Given the description of an element on the screen output the (x, y) to click on. 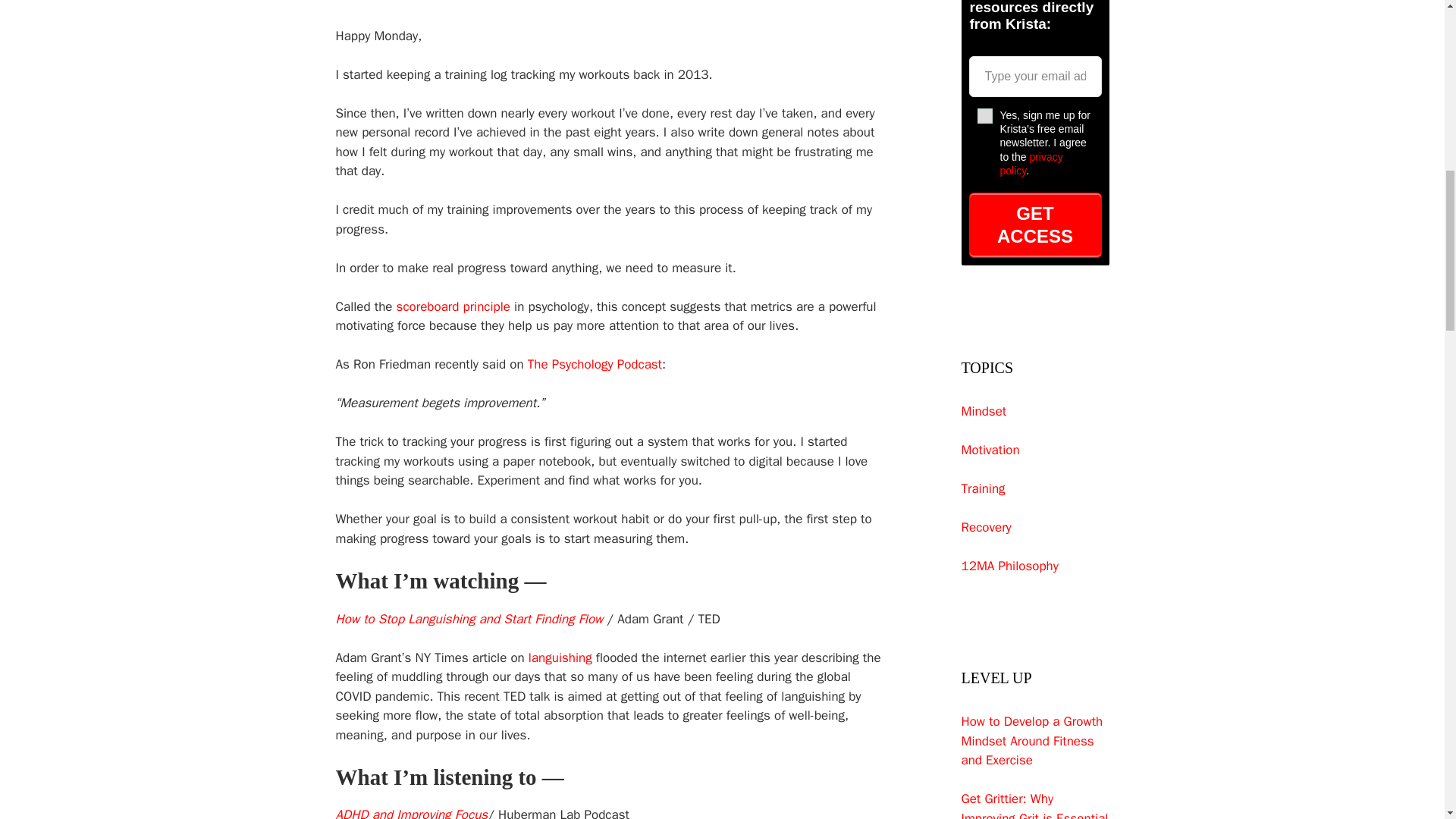
Scroll back to top (1406, 720)
How to Stop Languishing and Start Finding Flow (468, 618)
Mindset (983, 411)
languishing (560, 657)
The Psychology Podcast (594, 364)
ADHD and Improving Focus (410, 812)
Motivation (990, 449)
privacy policy (1030, 163)
GET ACCESS (1035, 224)
scoreboard principle (453, 306)
